Given the description of an element on the screen output the (x, y) to click on. 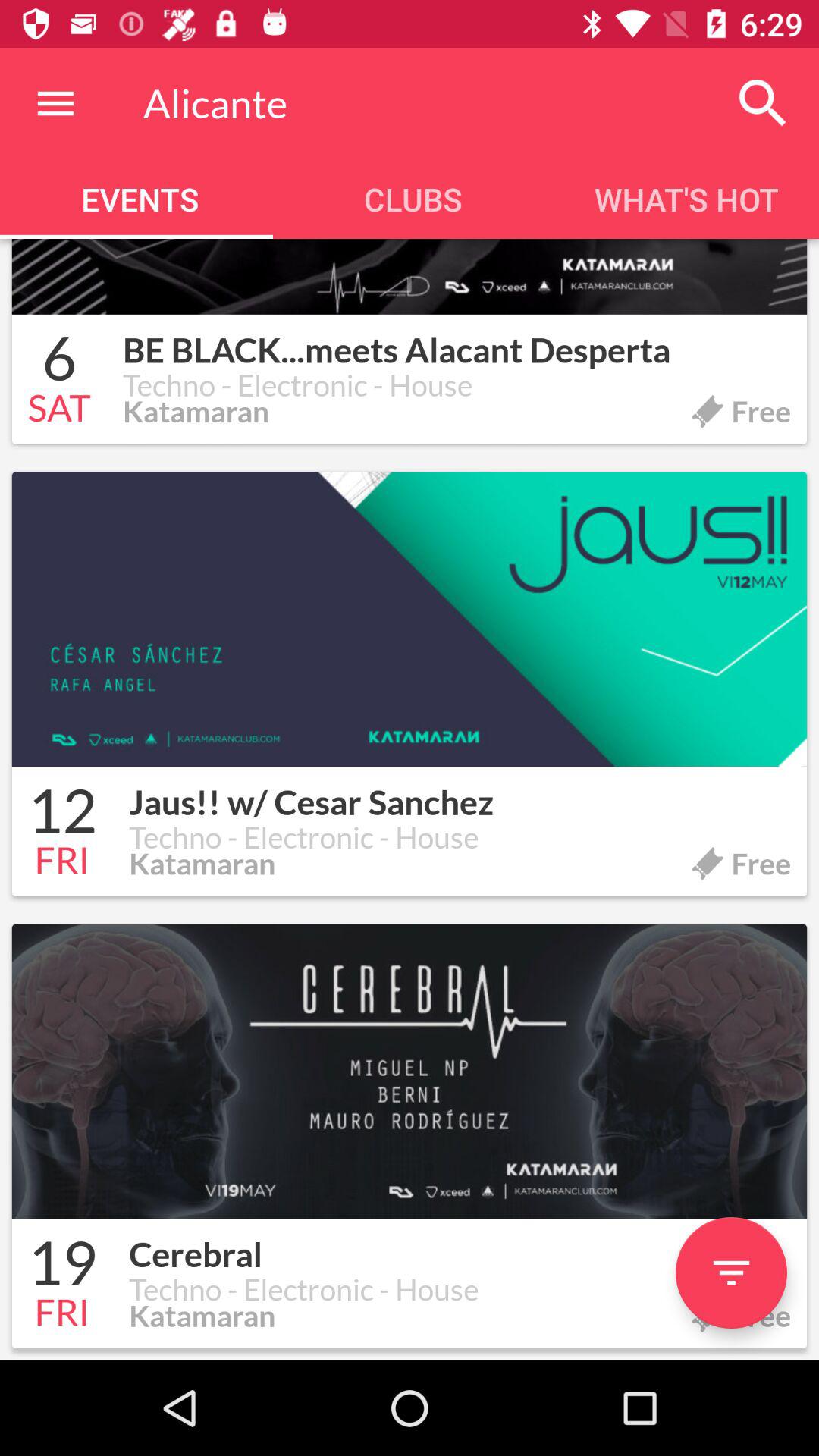
launch the item to the right of the techno - electronic - house icon (731, 1272)
